Given the description of an element on the screen output the (x, y) to click on. 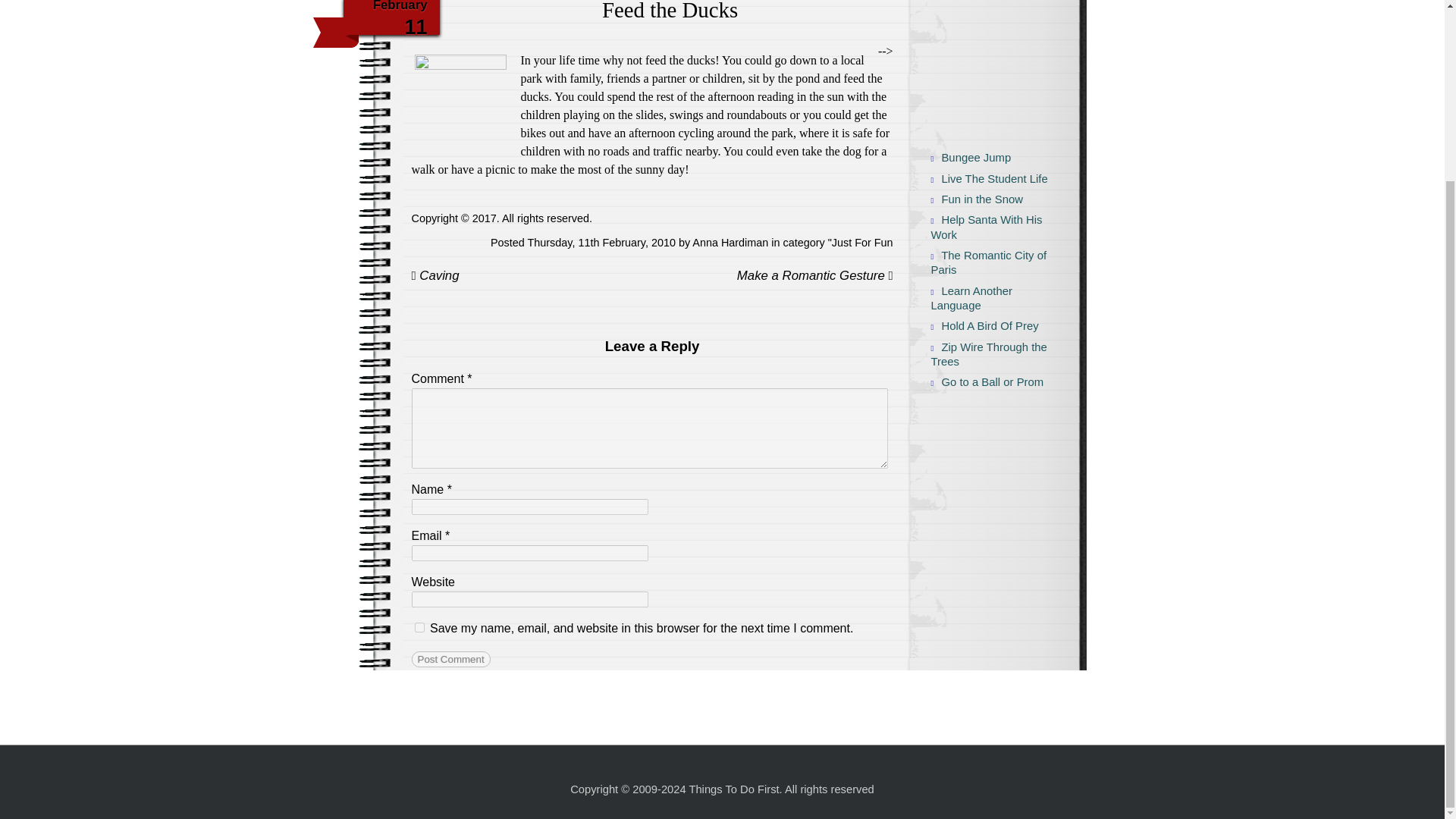
Learn Another Language (985, 298)
Feed The Ducks (459, 104)
Make a Romantic Gesture (814, 275)
Live The Student Life (985, 178)
Caving (434, 275)
Hold A Bird Of Prey (985, 326)
The Romantic City of Paris (985, 263)
Post Comment (449, 659)
yes (418, 627)
Go to a Ball or Prom (985, 382)
